Given the description of an element on the screen output the (x, y) to click on. 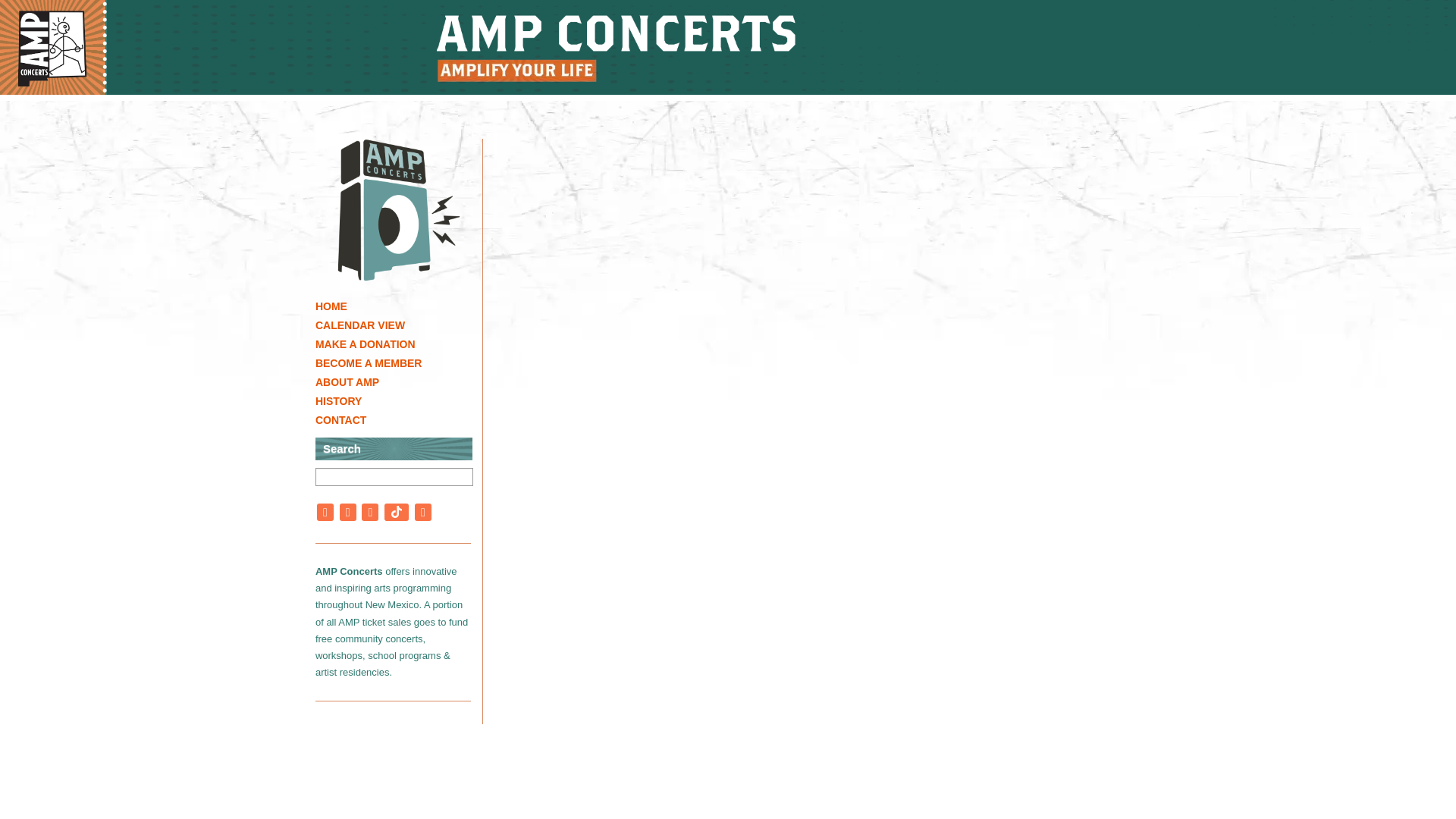
HOME (398, 306)
CALENDAR VIEW (398, 325)
ABOUT AMP (398, 382)
MAKE A DONATION (398, 343)
BECOME A MEMBER (398, 363)
CONTACT (398, 420)
HISTORY (398, 401)
